Given the description of an element on the screen output the (x, y) to click on. 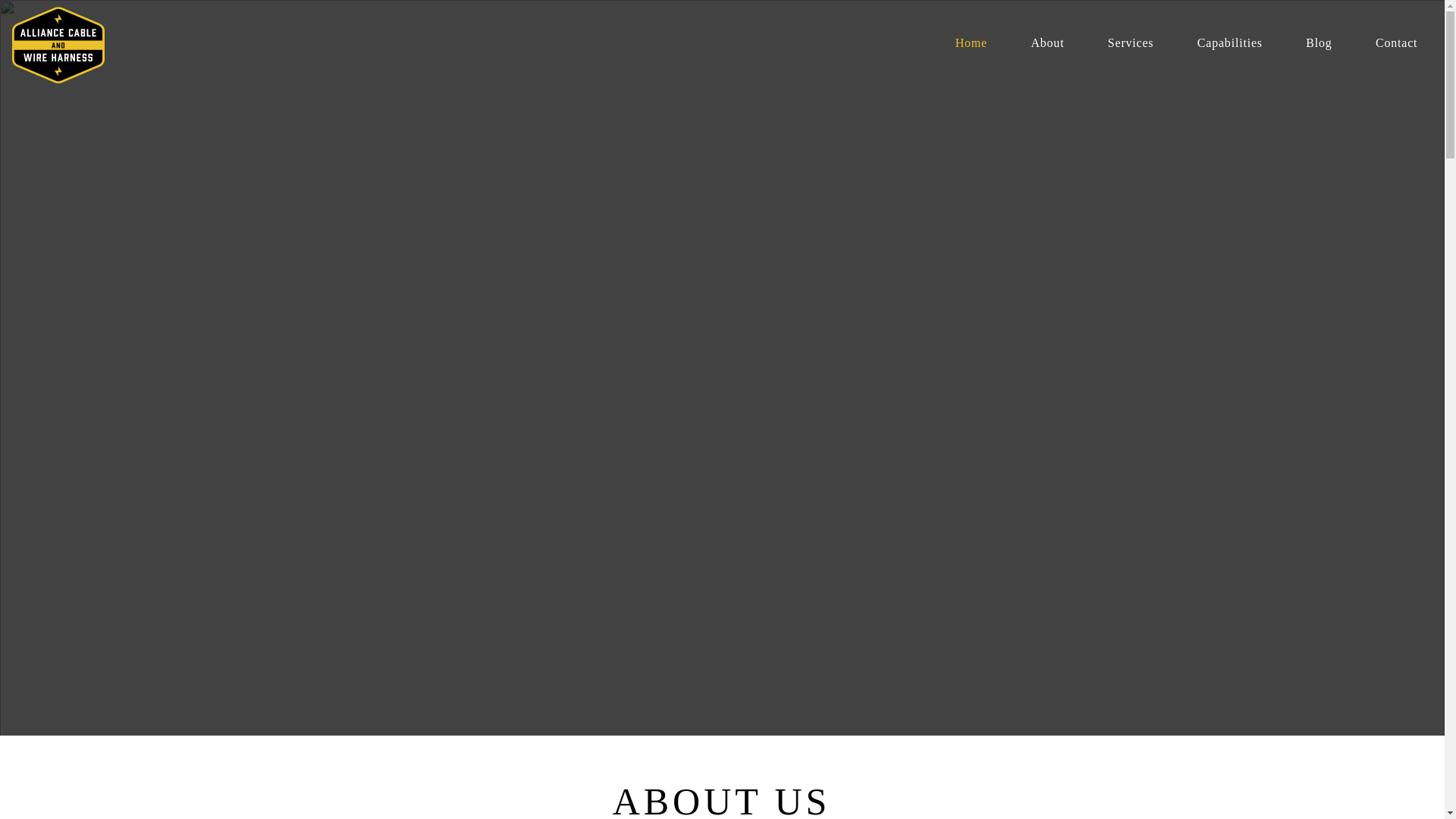
Blog (1319, 42)
Services (1130, 42)
Capabilities (1229, 42)
Home (971, 42)
Contact (1395, 42)
About (1047, 42)
